Given the description of an element on the screen output the (x, y) to click on. 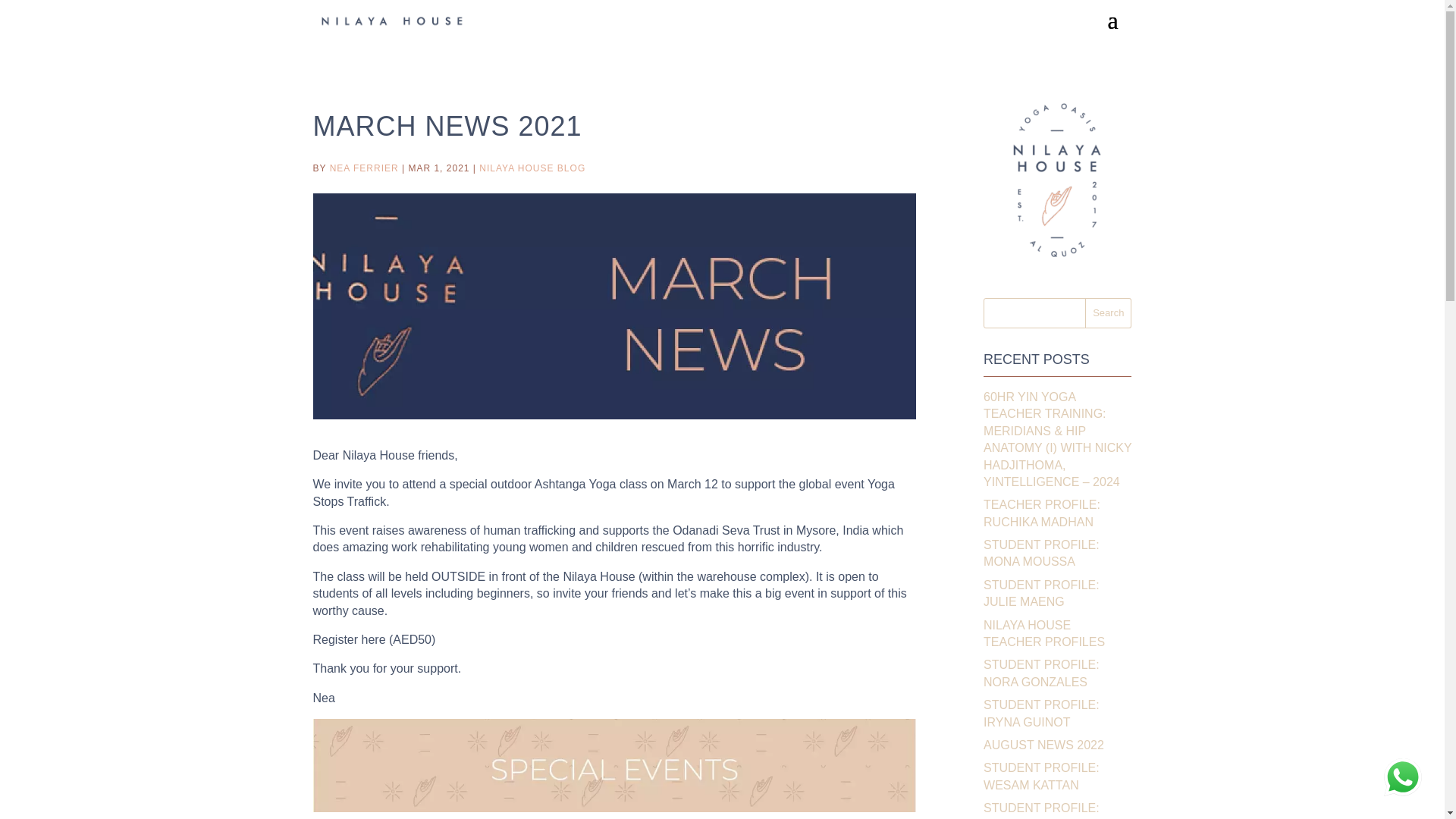
AUGUST NEWS 2022 (1043, 744)
Search (1107, 313)
Search (1107, 313)
STUDENT PROFILE: JULIE MAENG (1041, 593)
STUDENT PROFILE: MONA MOUSSA (1041, 553)
TEACHER PROFILE: RUCHIKA MADHAN (1042, 512)
NEA FERRIER (364, 167)
Posts by Nea Ferrier (364, 167)
NILAYA HOUSE TEACHER PROFILES (1044, 633)
NILAYA HOUSE BLOG (532, 167)
STUDENT PROFILE: SARAH WILLIAMSON (1044, 810)
STUDENT PROFILE: WESAM KATTAN (1041, 776)
STUDENT PROFILE: NORA GONZALES (1041, 672)
STUDENT PROFILE: IRYNA GUINOT (1041, 713)
WhatsApp Nilaya House (1403, 777)
